Given the description of an element on the screen output the (x, y) to click on. 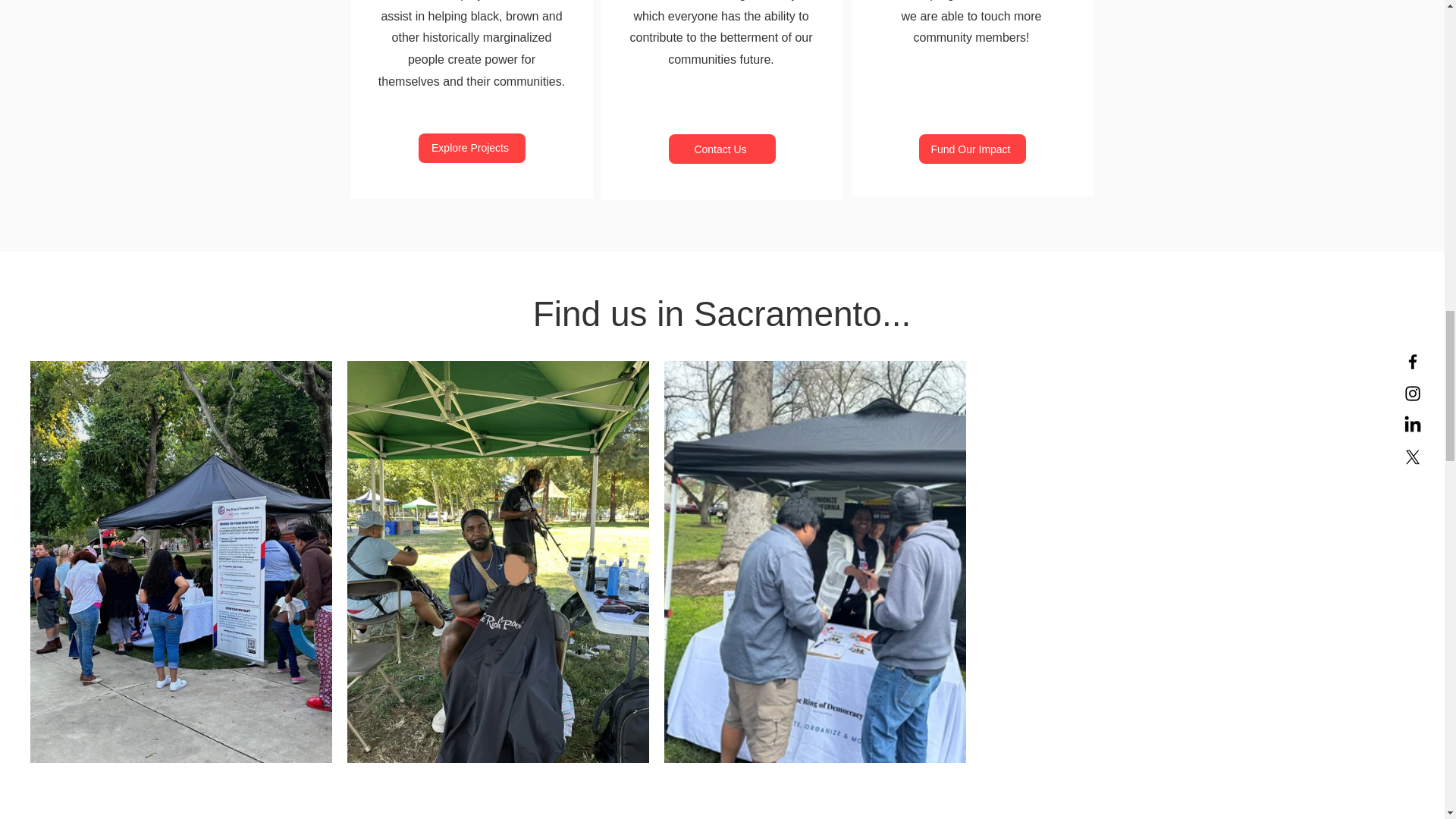
Fund Our Impact (972, 148)
Explore Projects (472, 147)
Contact Us (722, 148)
